Given the description of an element on the screen output the (x, y) to click on. 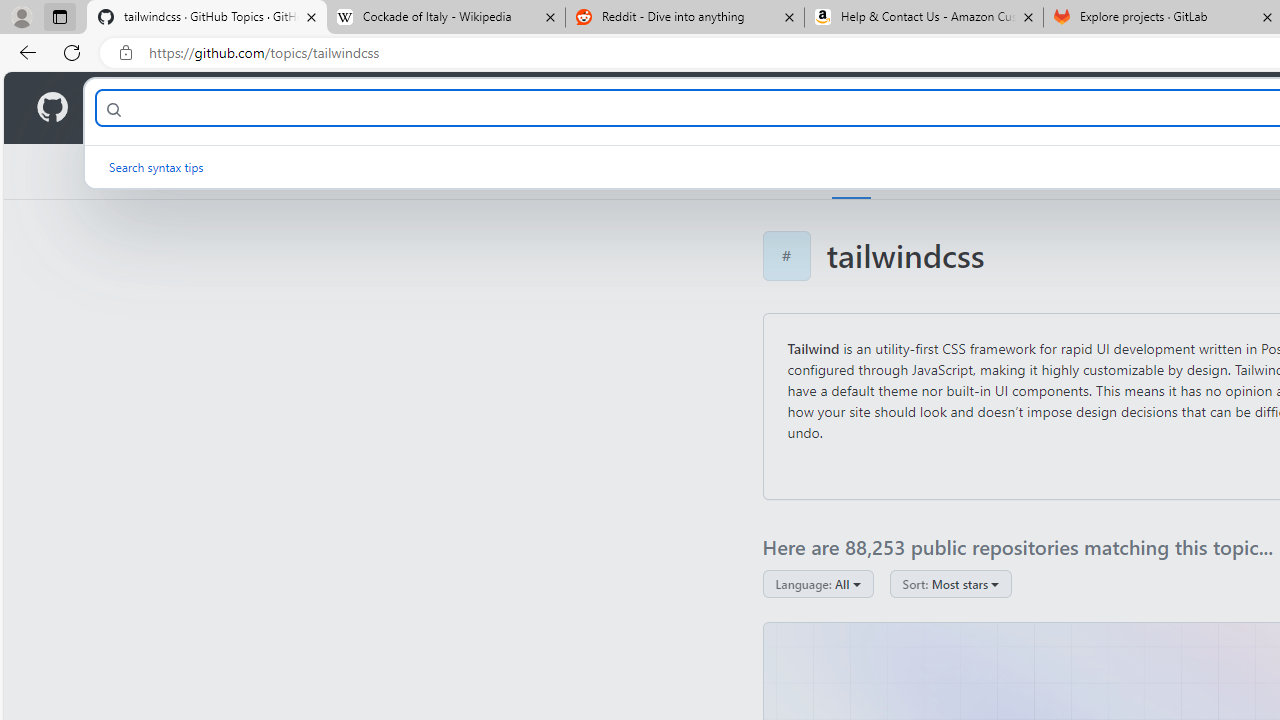
Enterprise (563, 107)
Resources (330, 107)
GitHub Sponsors (1180, 171)
Trending (921, 171)
Open Source (446, 107)
Solutions (225, 107)
Solutions (225, 107)
Topics (851, 171)
Explore (784, 171)
